Given the description of an element on the screen output the (x, y) to click on. 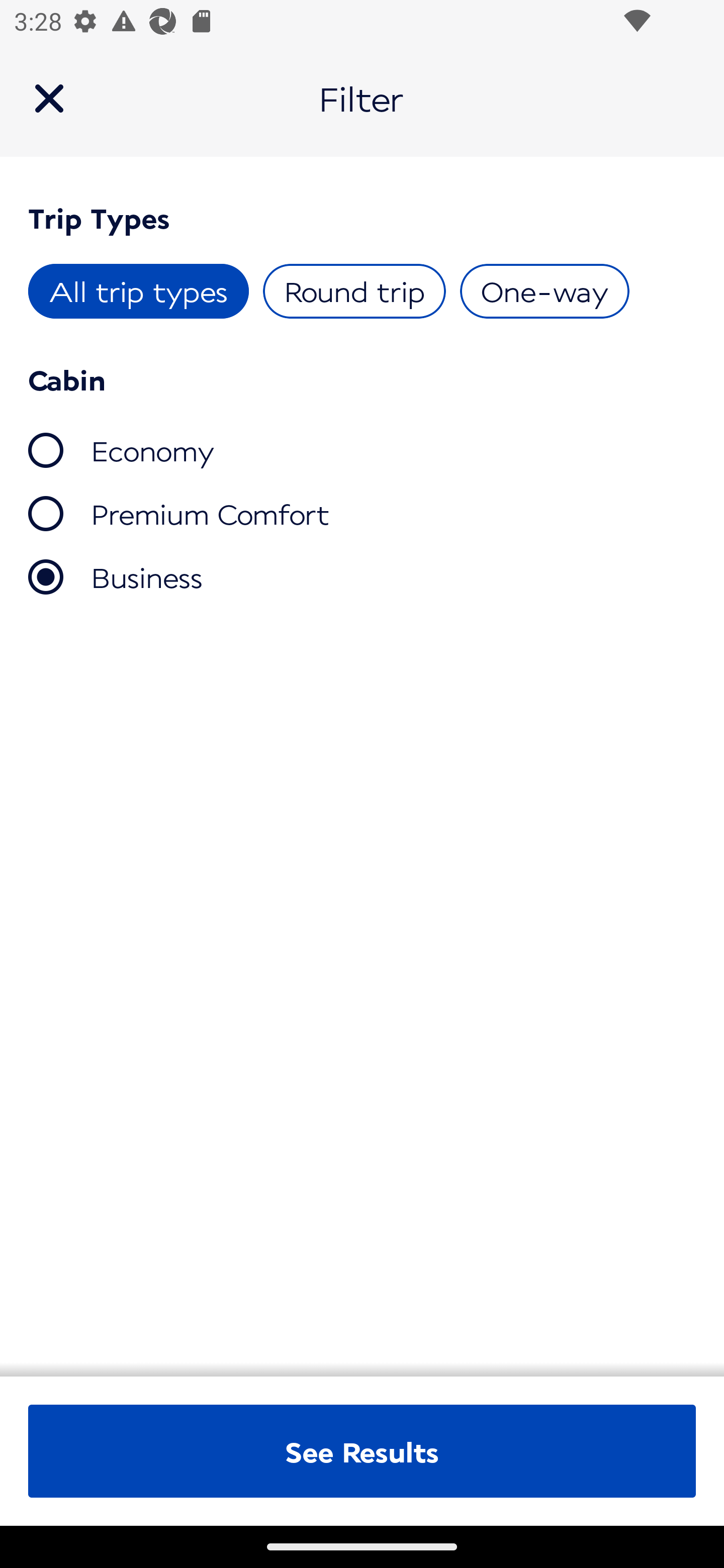
All trip types (138, 291)
Round trip (353, 291)
One-way (544, 291)
See Results (361, 1450)
